Given the description of an element on the screen output the (x, y) to click on. 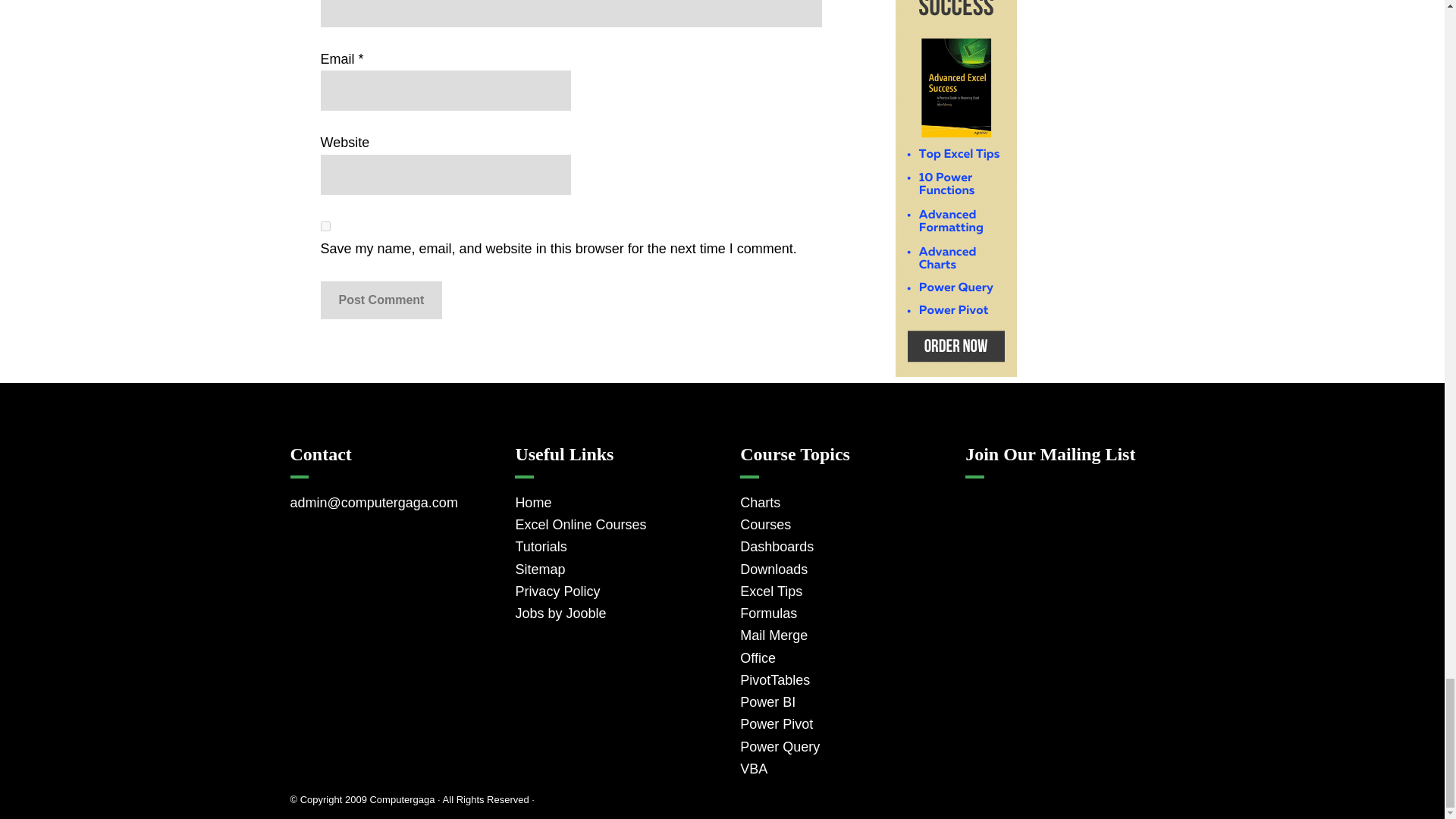
Post Comment (381, 300)
Post Comment (381, 300)
yes (325, 225)
